Given the description of an element on the screen output the (x, y) to click on. 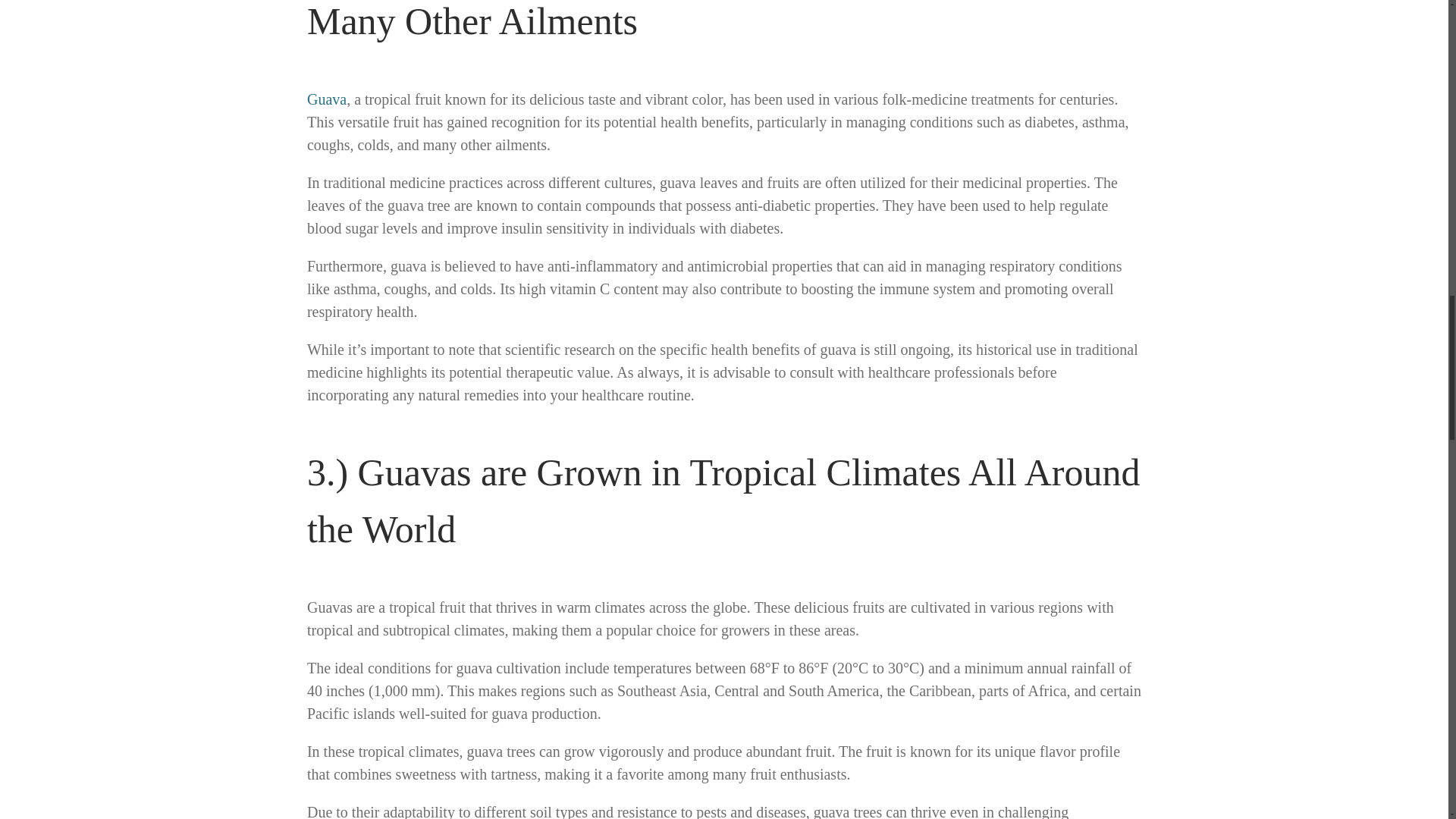
Guava (326, 98)
